Given the description of an element on the screen output the (x, y) to click on. 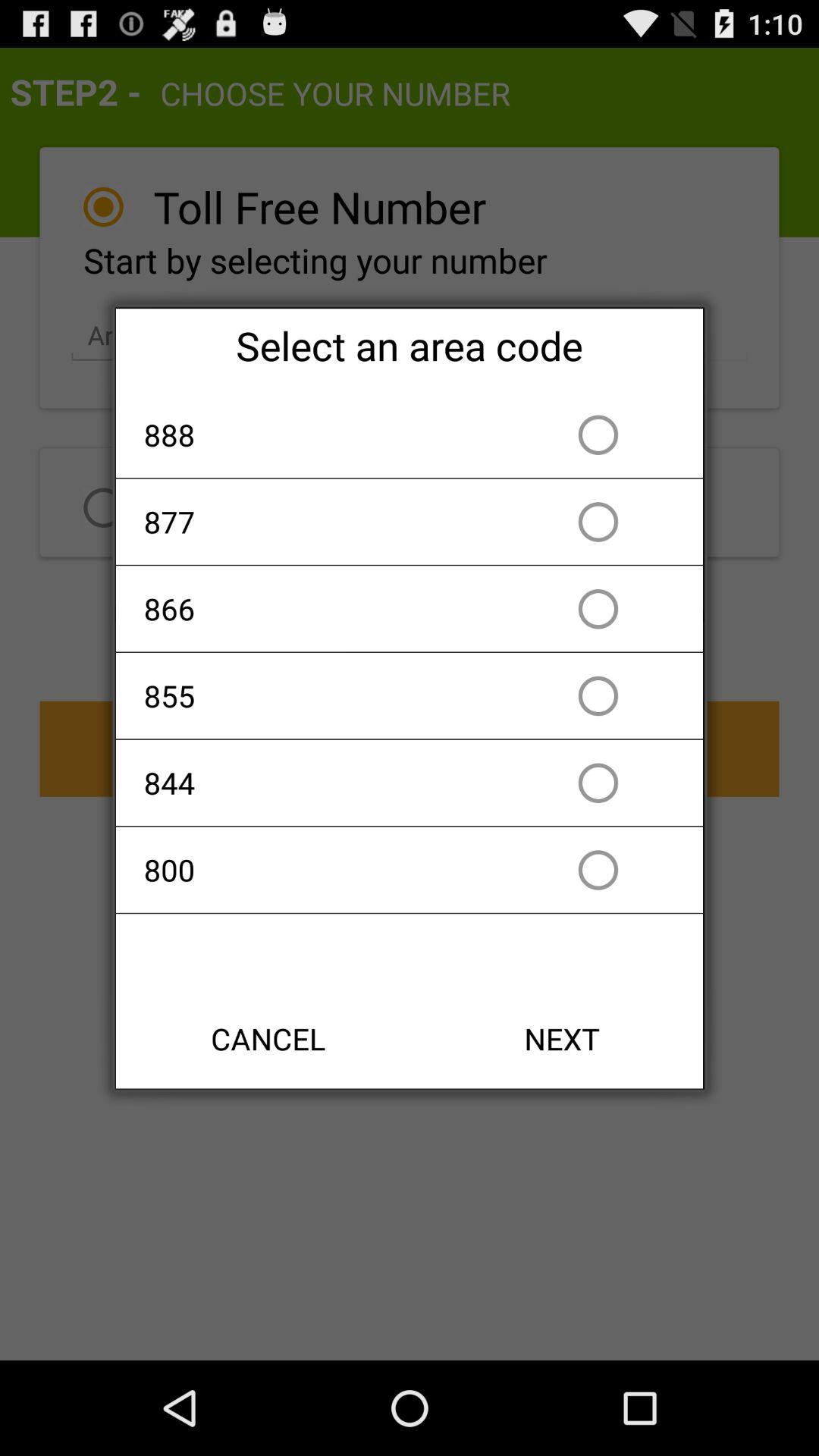
flip until the 866 icon (322, 608)
